Given the description of an element on the screen output the (x, y) to click on. 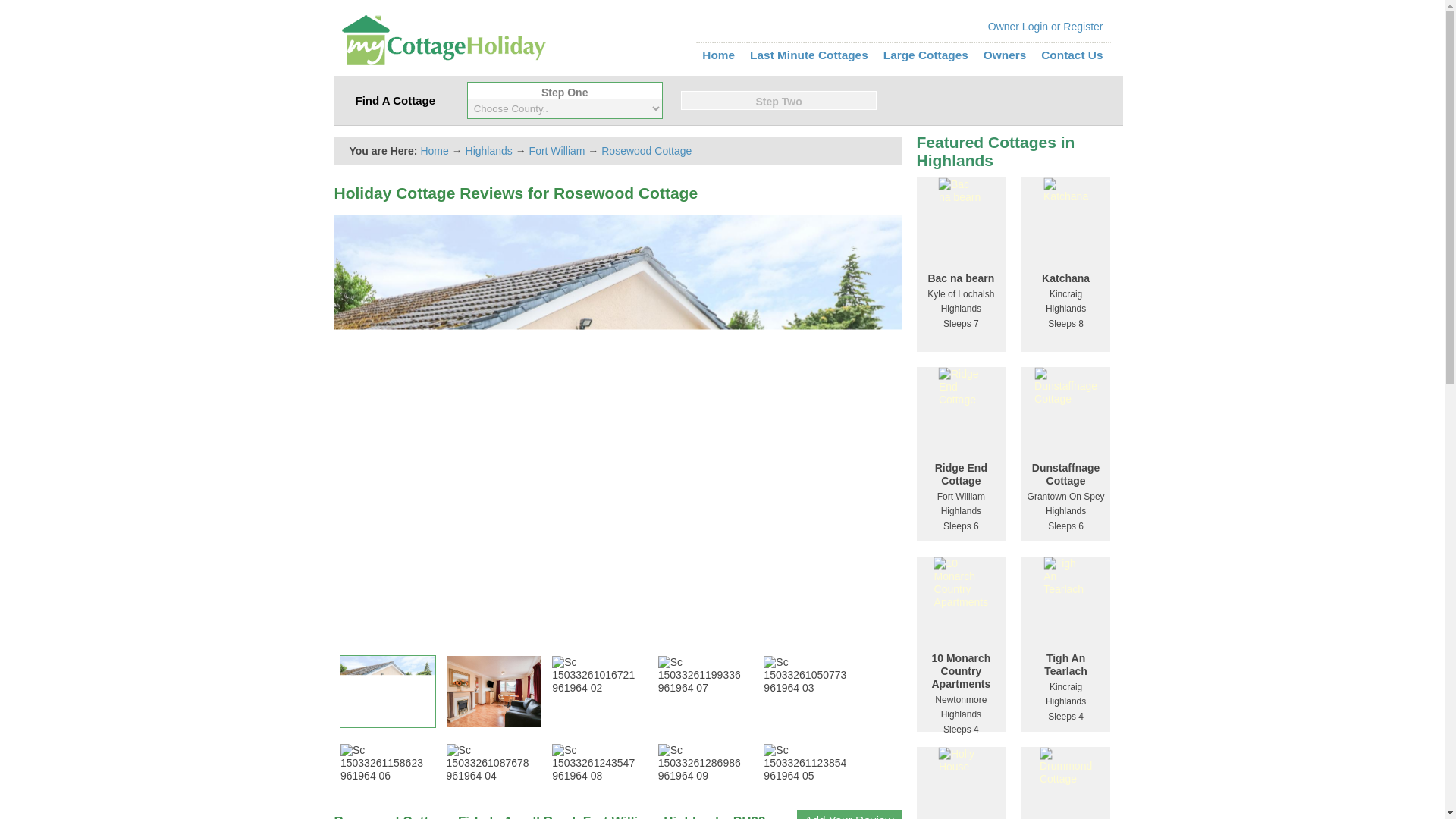
Rosewood Cottage (646, 150)
Owners (1005, 54)
Fort William (557, 150)
Last Minute Cottages (808, 54)
Large Cottages (925, 54)
Home (434, 150)
Highlands (488, 150)
Home (718, 54)
Large Cottages (925, 54)
Last Minute Cottages (808, 54)
